Given the description of an element on the screen output the (x, y) to click on. 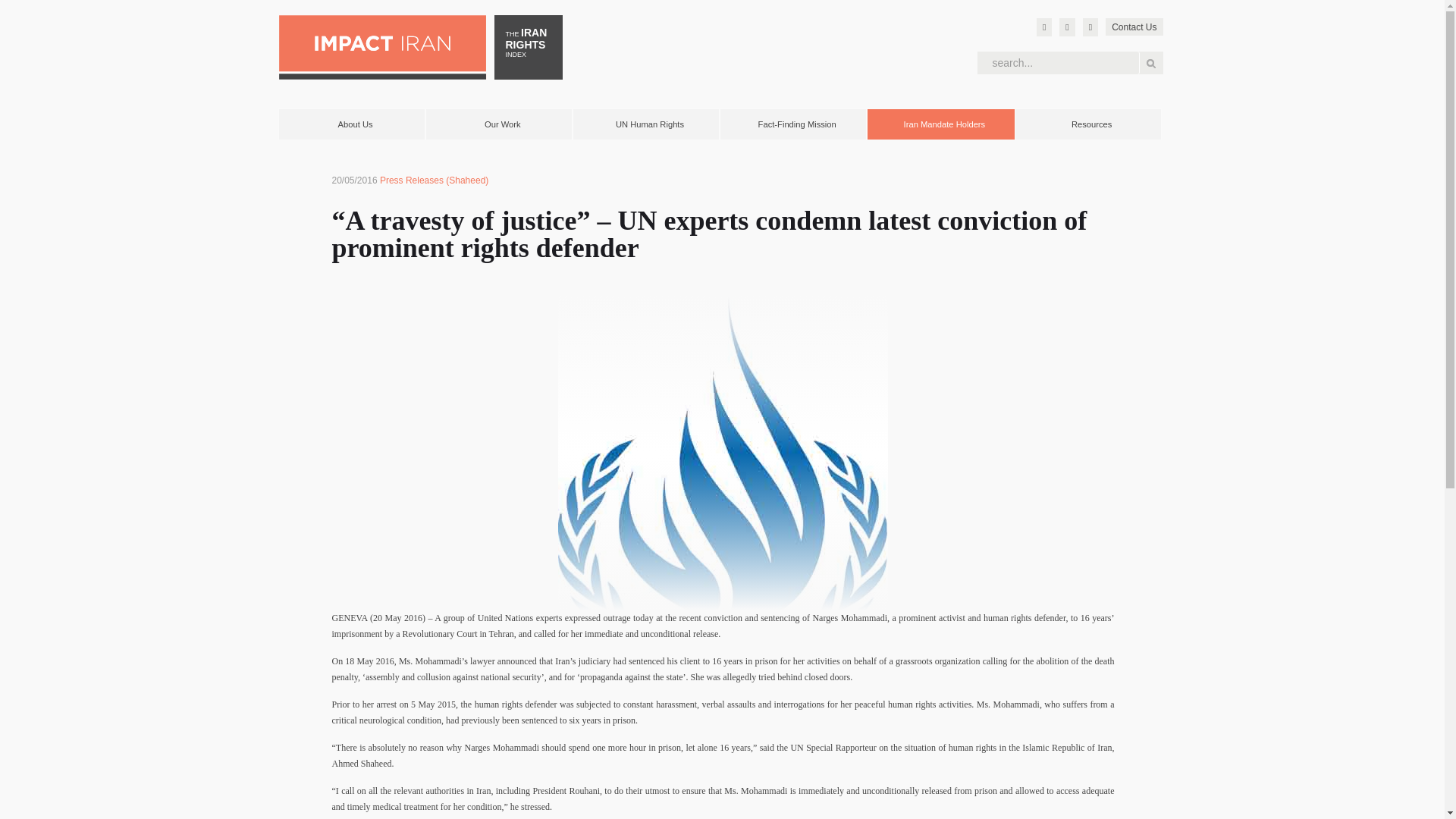
Contact Us (1133, 27)
Reset (3, 2)
Our Work (502, 123)
About Us (355, 123)
UN Human Rights (649, 123)
Iran Mandate Holders (943, 123)
THE IRAN RIGHTS INDEX (528, 47)
Fact-Finding Mission (796, 123)
